Given the description of an element on the screen output the (x, y) to click on. 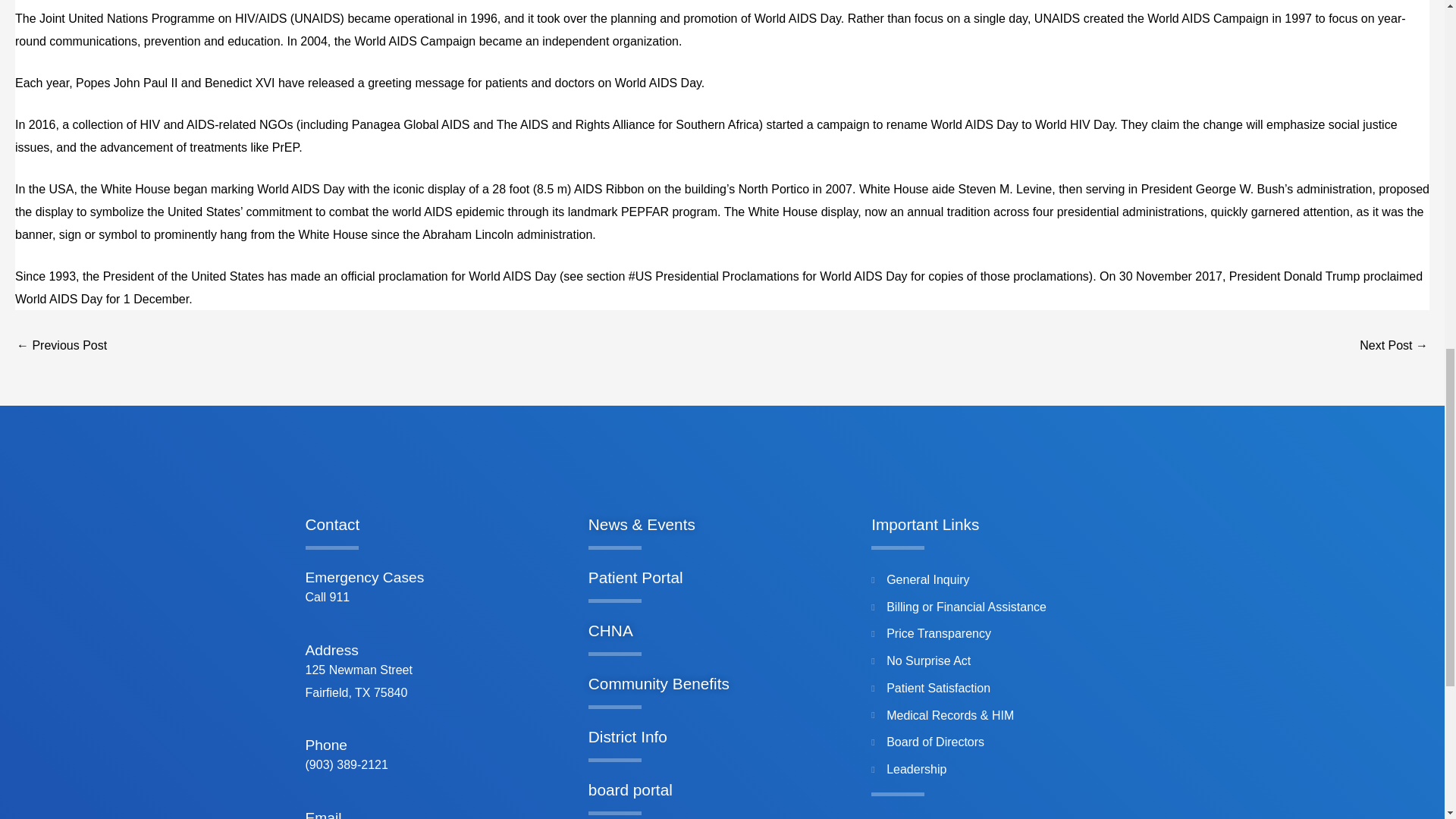
Cervical Health Awareness in January (1393, 345)
Diabetes Awareness (61, 345)
